Given the description of an element on the screen output the (x, y) to click on. 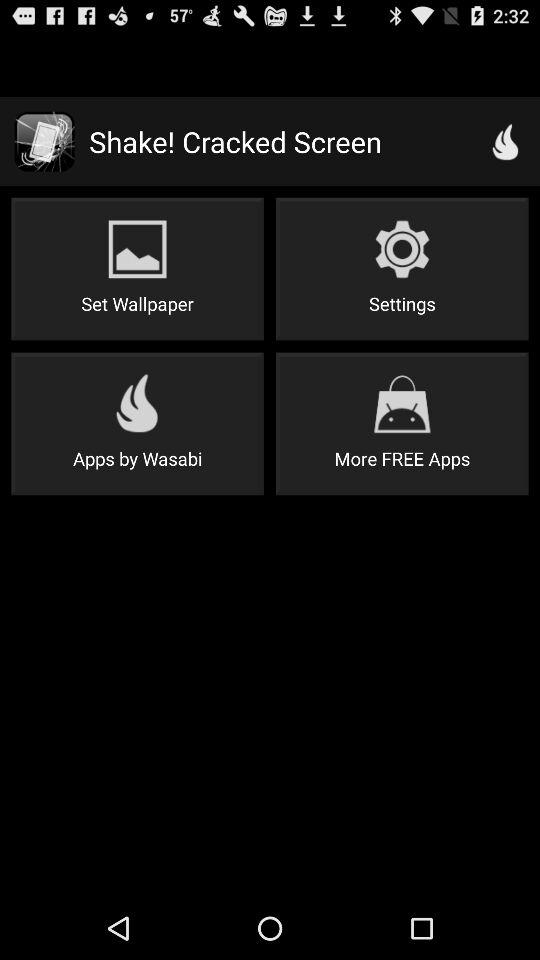
tap icon above apps by wasabi item (137, 268)
